Given the description of an element on the screen output the (x, y) to click on. 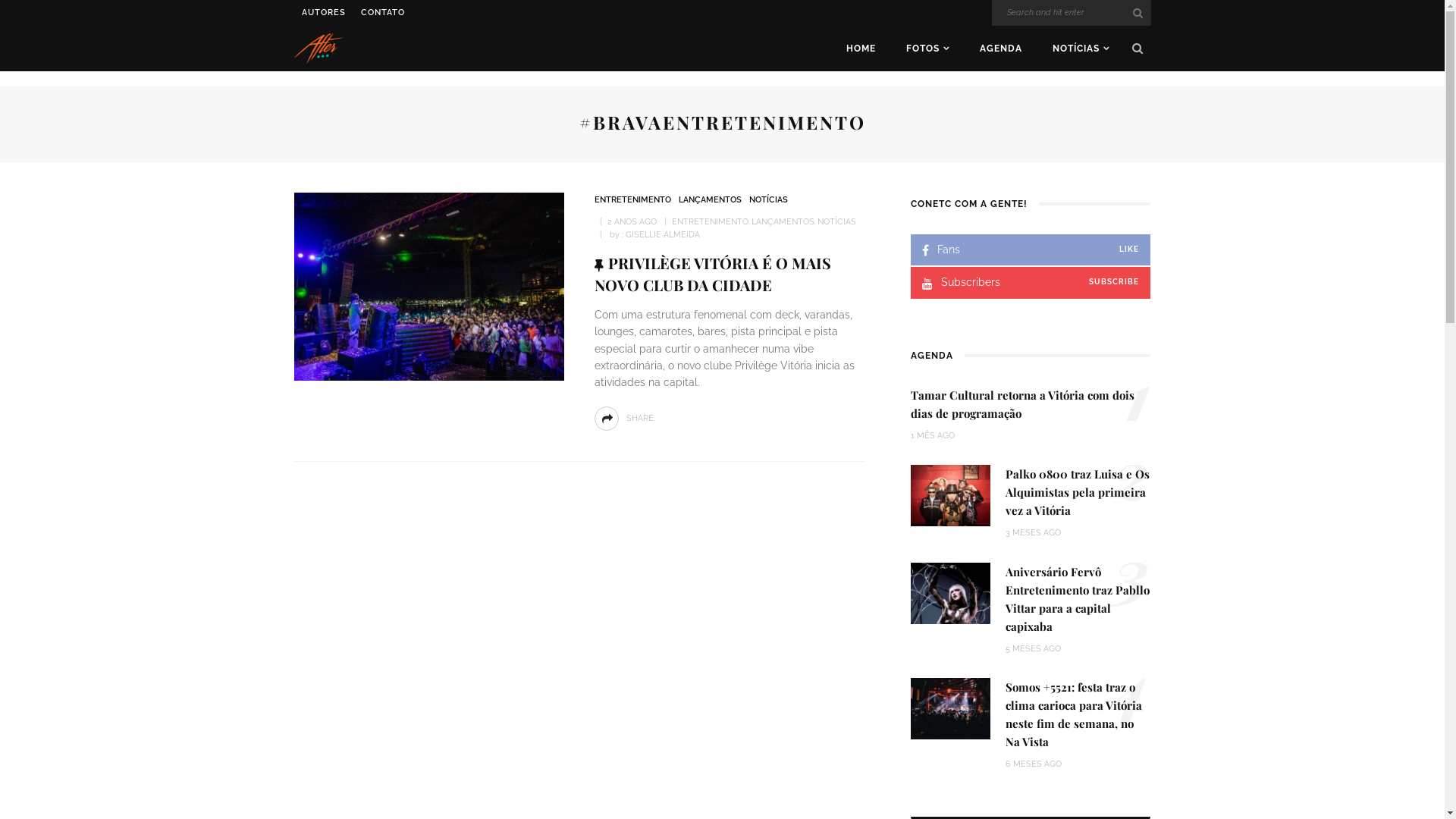
Subscribers
SUBSCRIBE Element type: text (1030, 282)
GISELLIE ALMEIDA Element type: text (662, 234)
CONTATO Element type: text (382, 12)
search Element type: hover (1136, 48)
AGENDA Element type: text (1000, 48)
Search for: Element type: hover (1071, 12)
ENTRETENIMENTO Element type: text (632, 199)
AUTORES Element type: text (323, 12)
HOME Element type: text (861, 48)
FOTOS Element type: text (926, 48)
Fans
LIKE Element type: text (1030, 249)
ENTRETENIMENTO Element type: text (709, 221)
